Given the description of an element on the screen output the (x, y) to click on. 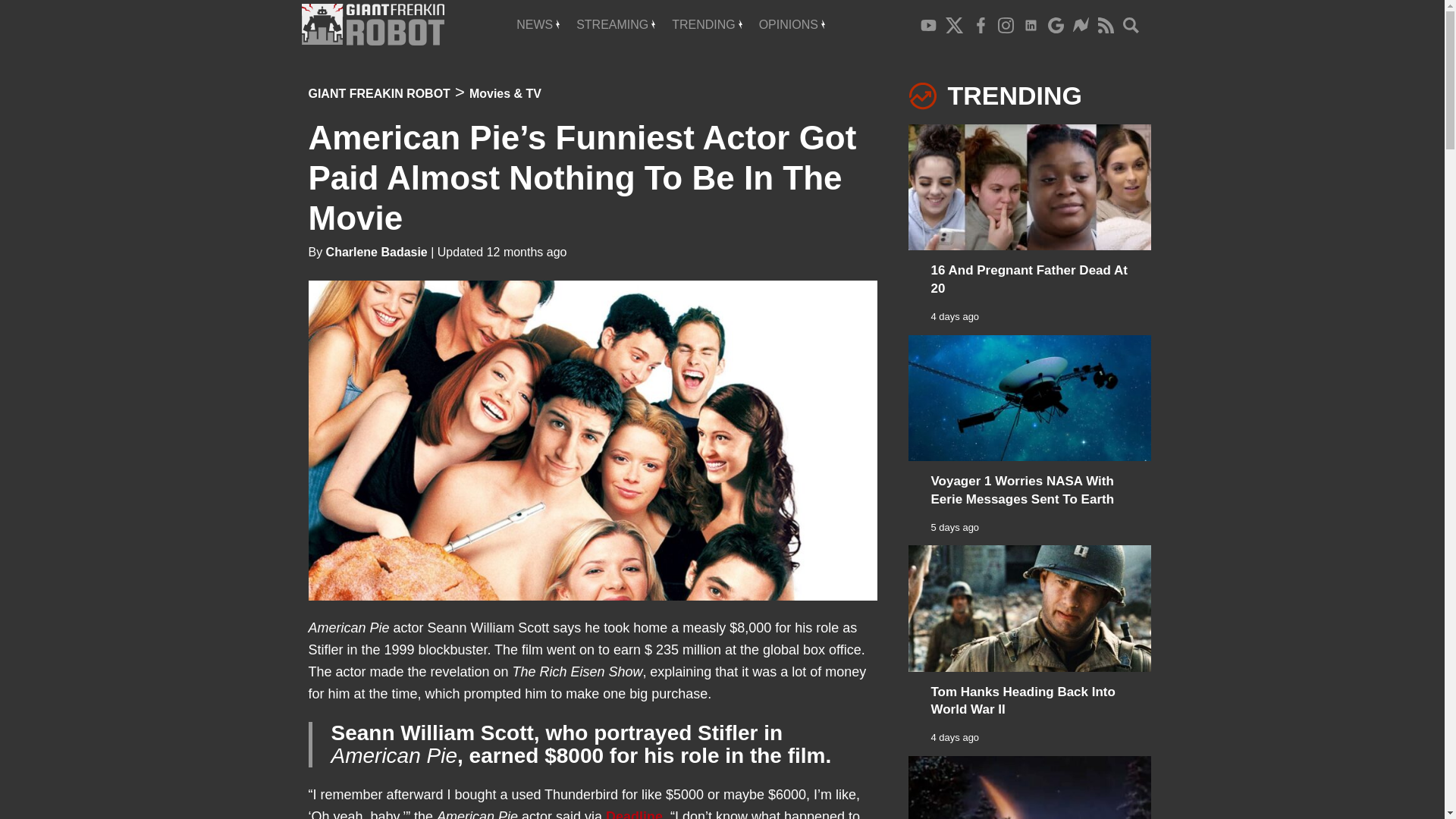
Streaming (615, 24)
NEWS (537, 24)
Charlene Badasie (377, 251)
OPINIONS (791, 24)
STREAMING (615, 24)
Entertainment News (537, 24)
TRENDING (706, 24)
GIANT FREAKIN ROBOT (378, 92)
Trending (706, 24)
